Given the description of an element on the screen output the (x, y) to click on. 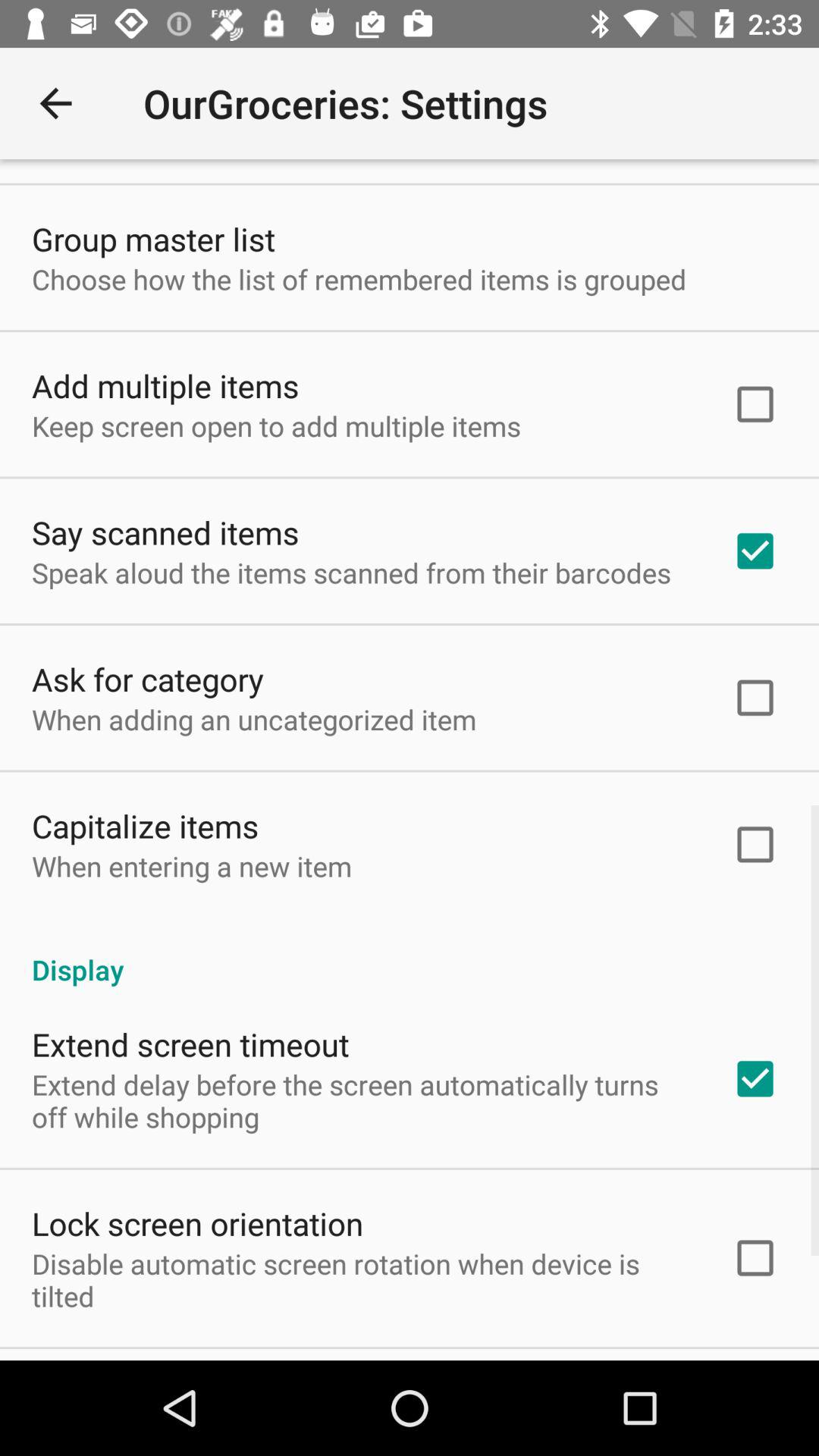
choose icon next to ourgroceries: settings icon (55, 103)
